Given the description of an element on the screen output the (x, y) to click on. 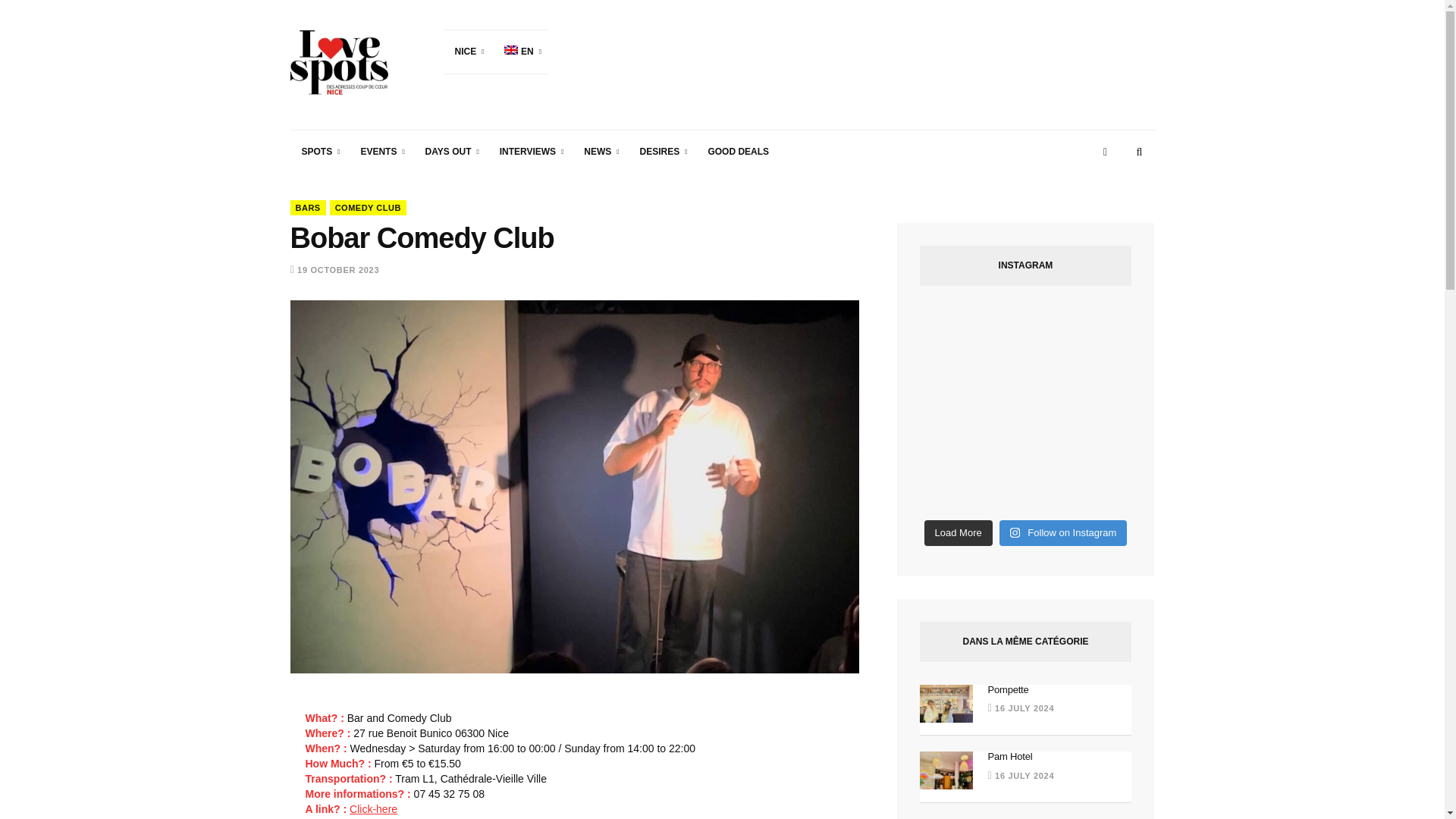
Search (1139, 151)
EN (520, 51)
NICE (465, 51)
Bobar Comedy Club (373, 808)
